Given the description of an element on the screen output the (x, y) to click on. 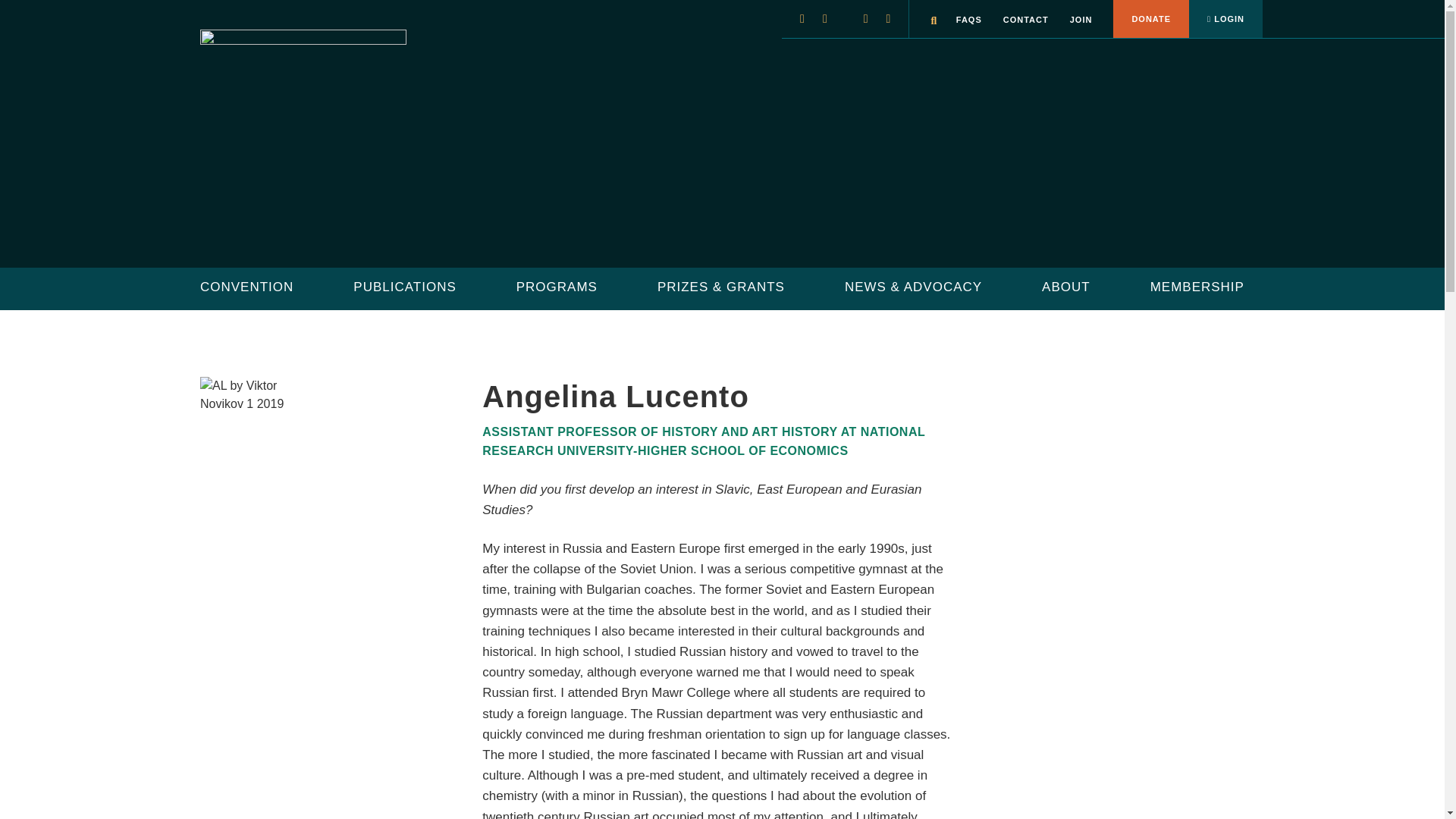
DONATE (1151, 18)
PROGRAMS (556, 287)
LOGIN (1225, 18)
CONTACT (1025, 19)
FAQS (968, 19)
CONVENTION (247, 287)
JOIN (1081, 19)
PUBLICATIONS (404, 287)
